Given the description of an element on the screen output the (x, y) to click on. 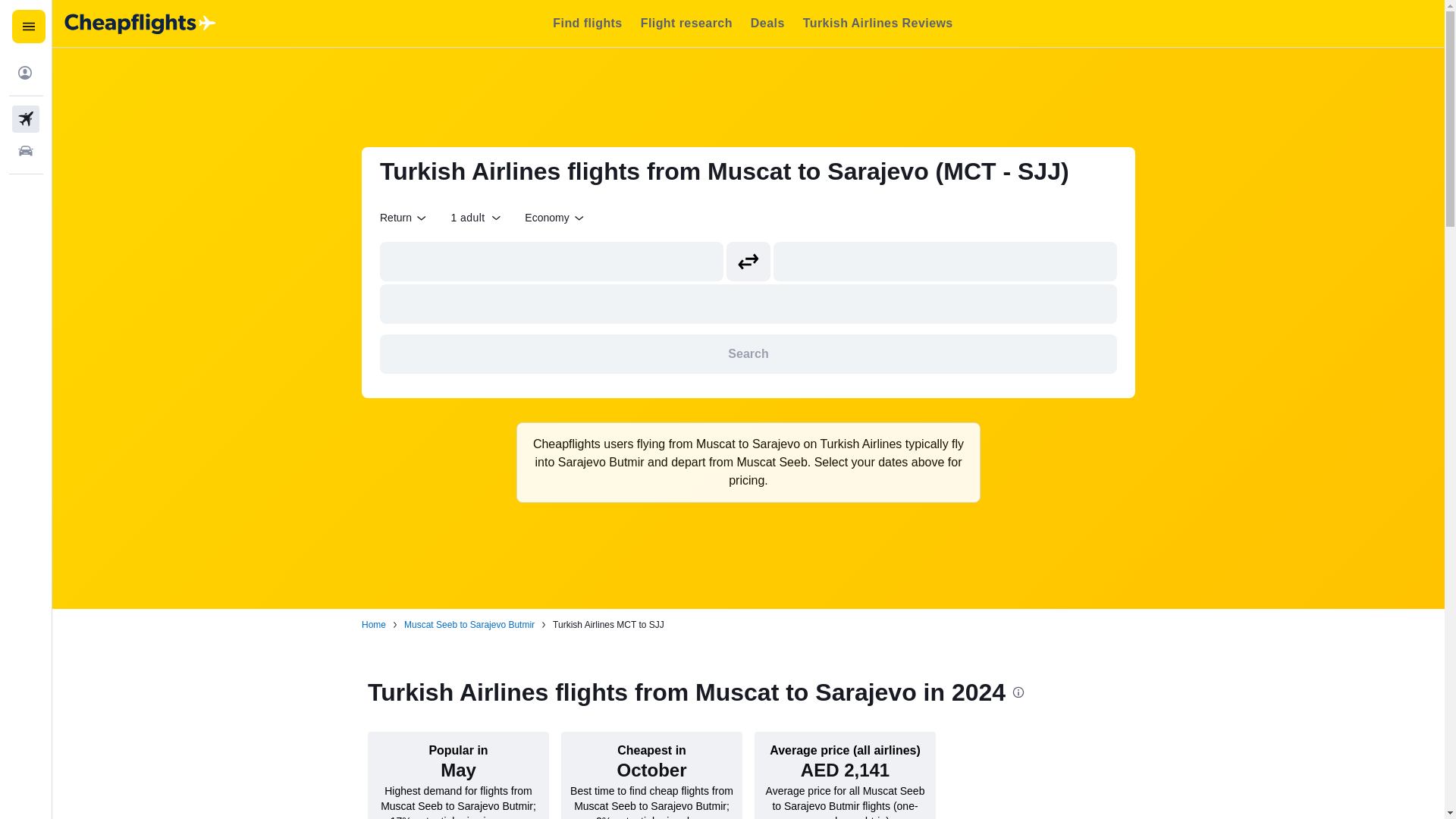
Search (748, 353)
October (650, 770)
May (458, 770)
Home (373, 624)
AED 2,141 (844, 770)
Muscat Seeb to Sarajevo Butmir (469, 624)
Search (748, 353)
